Given the description of an element on the screen output the (x, y) to click on. 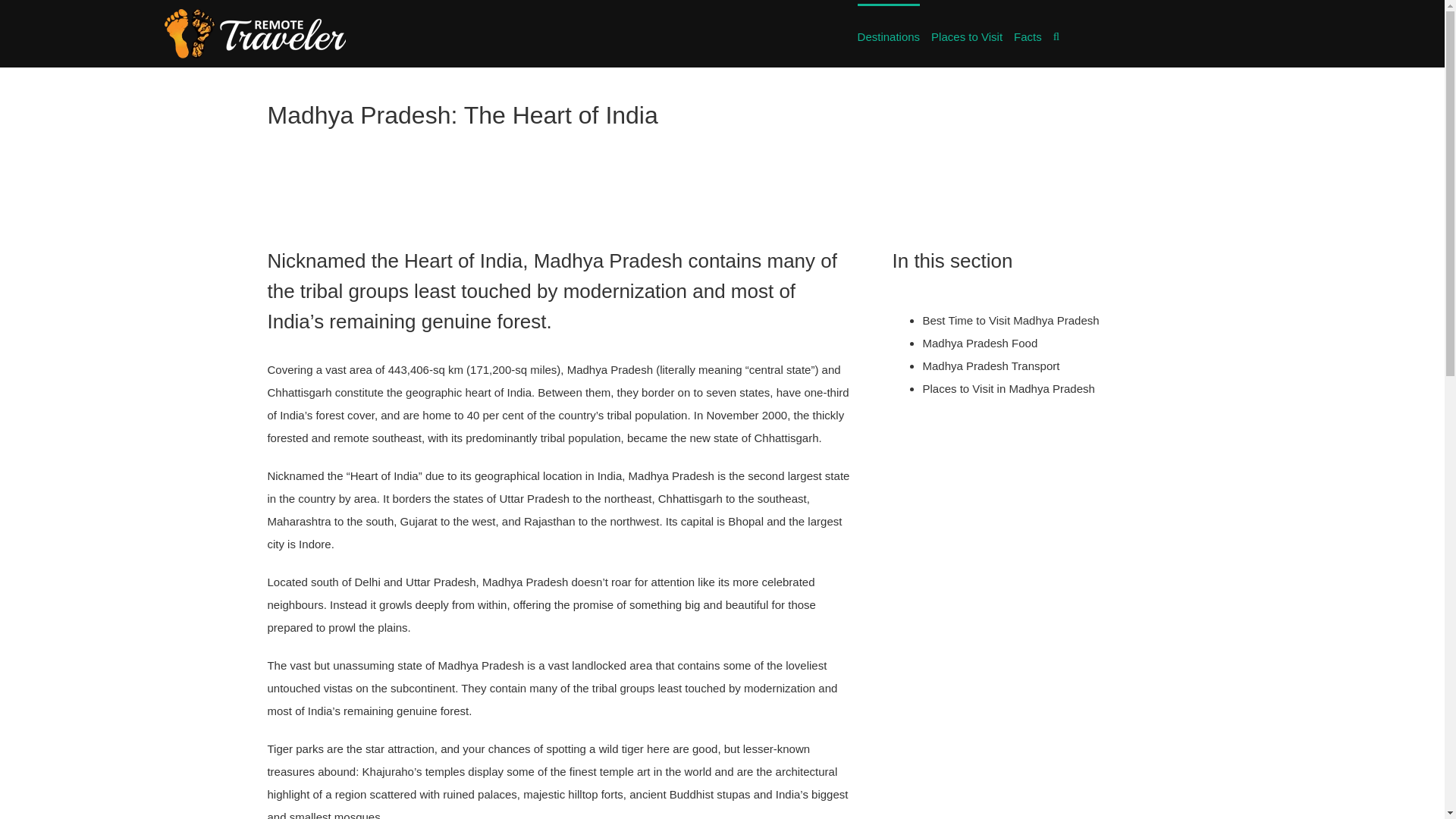
Destinations (888, 35)
